Given the description of an element on the screen output the (x, y) to click on. 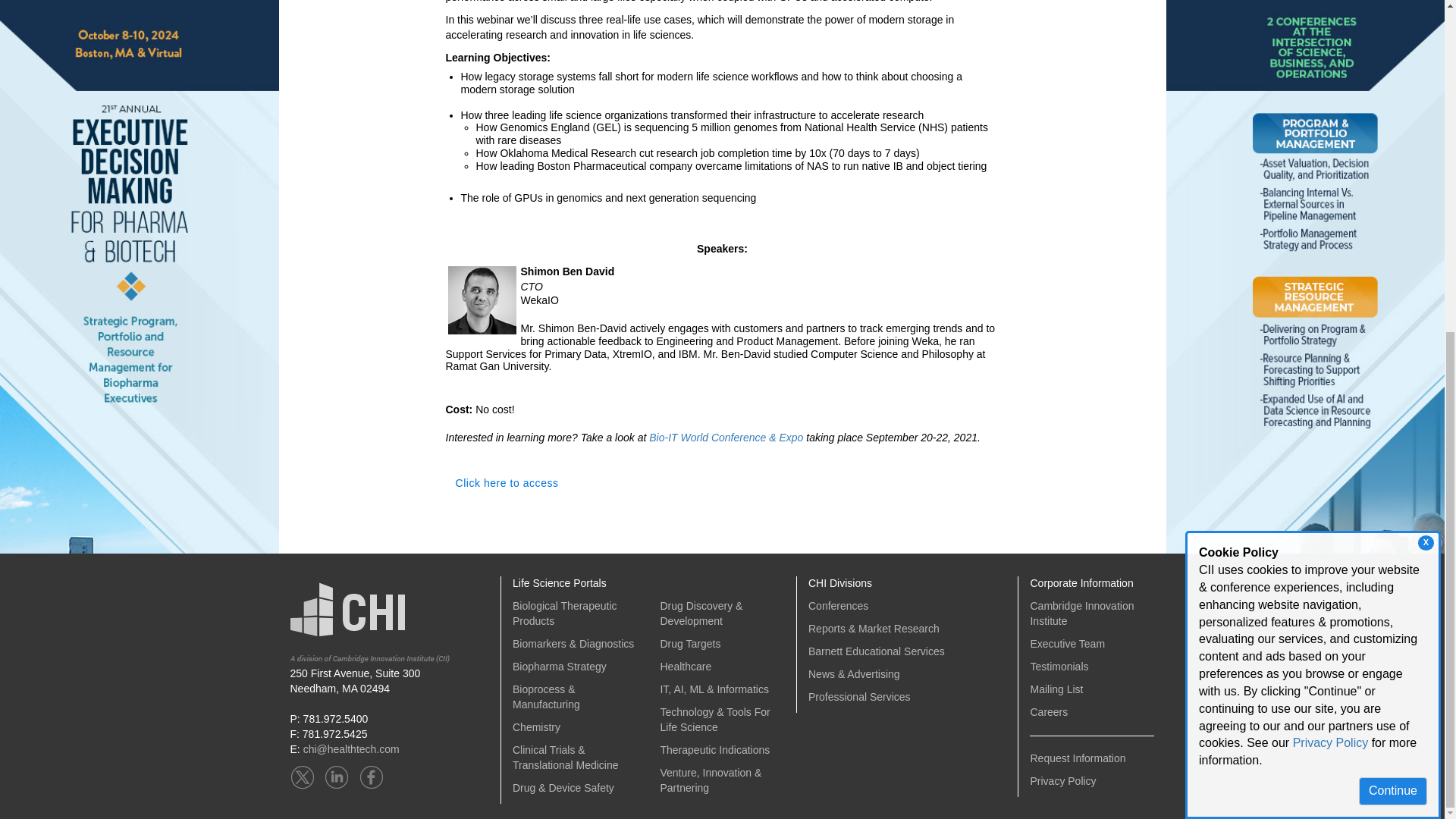
Privacy Policy (1330, 188)
Careers (1048, 711)
Continue (1392, 237)
Shimon Ben David (480, 300)
